Given the description of an element on the screen output the (x, y) to click on. 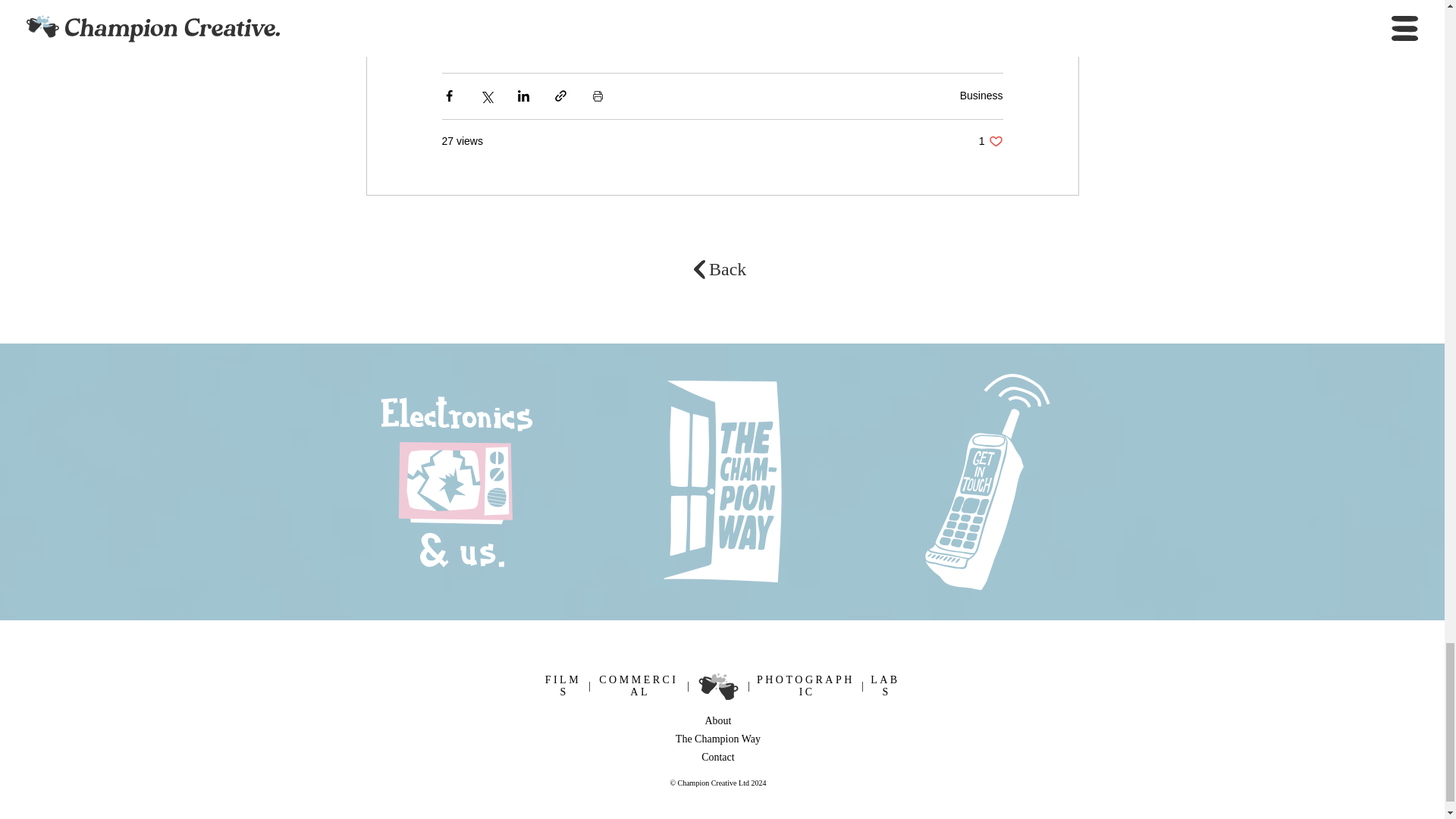
The Champion Way (812, 23)
FILMS (562, 686)
The Champion Way (717, 738)
Back (727, 269)
About (990, 141)
About (667, 23)
PHOTOGRAPHIC (717, 720)
Business (805, 686)
Contact (981, 95)
